Given the description of an element on the screen output the (x, y) to click on. 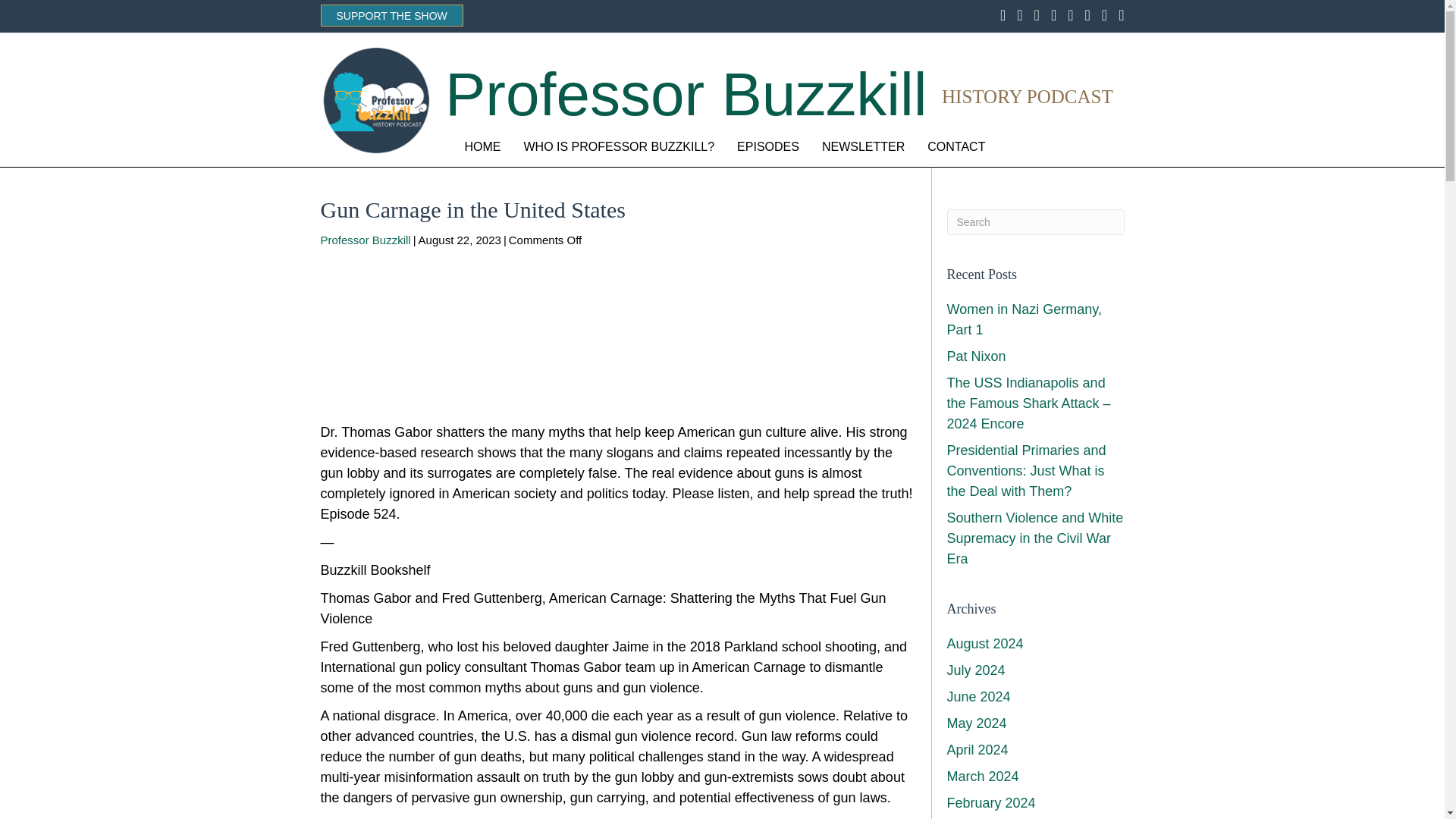
July 2024 (975, 670)
NEWSLETTER (862, 146)
HOME (482, 146)
WHO IS PROFESSOR BUZZKILL? (619, 146)
April 2024 (976, 749)
HISTORY PODCAST (1027, 96)
CONTACT (955, 146)
SUPPORT THE SHOW (391, 15)
June 2024 (978, 696)
History Podcast (1027, 96)
